Given the description of an element on the screen output the (x, y) to click on. 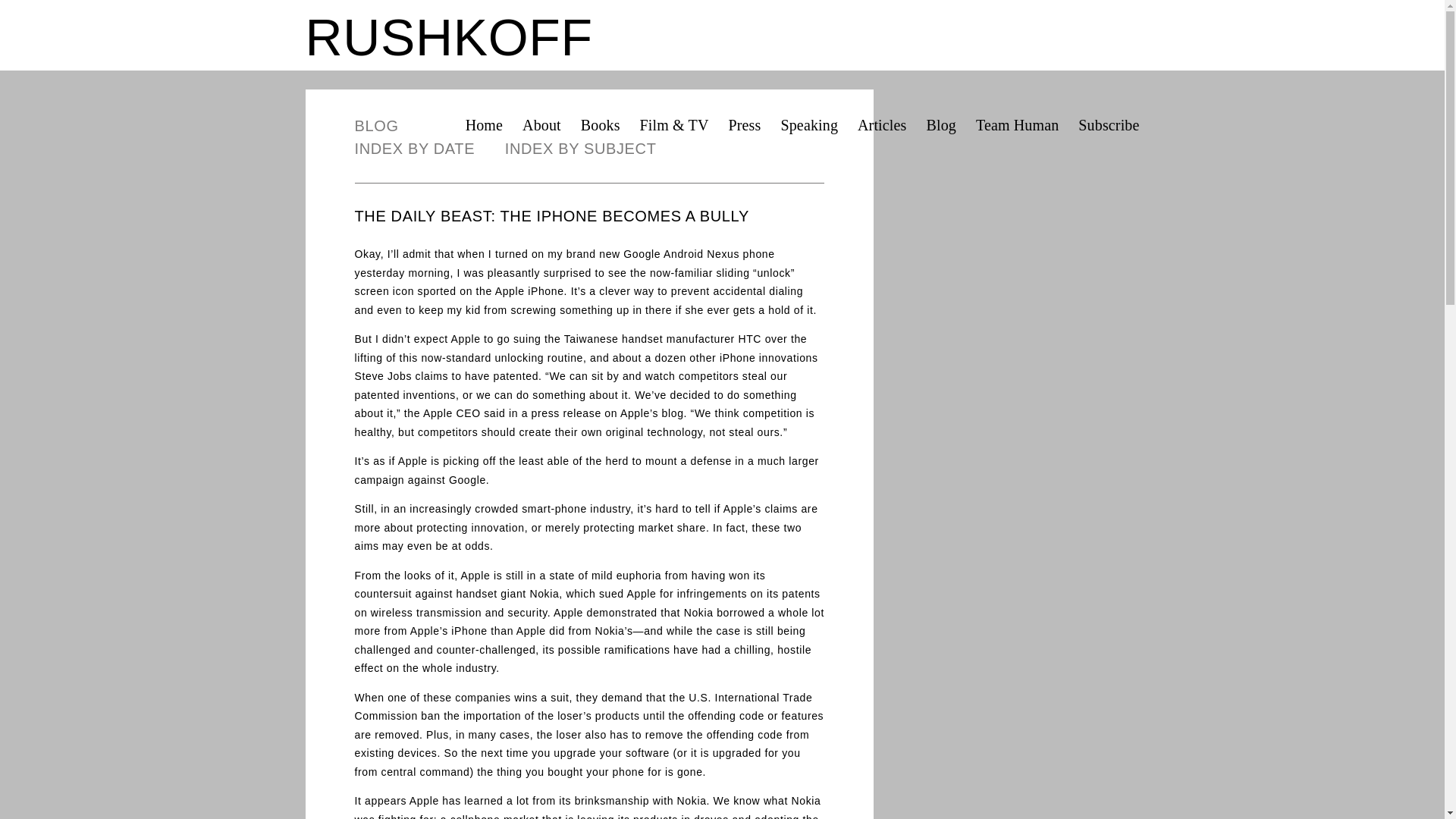
Subscribe (1108, 125)
Rushkoff (448, 37)
Team Human (1016, 125)
RUSHKOFF (448, 37)
Press (745, 125)
Speaking (809, 125)
Books (600, 125)
BLOG (390, 125)
INDEX BY DATE (428, 148)
Home (483, 125)
SKIP TO CONTENT (470, 121)
INDEX BY SUBJECT (580, 148)
About (541, 125)
Blog (940, 125)
Articles (881, 125)
